Given the description of an element on the screen output the (x, y) to click on. 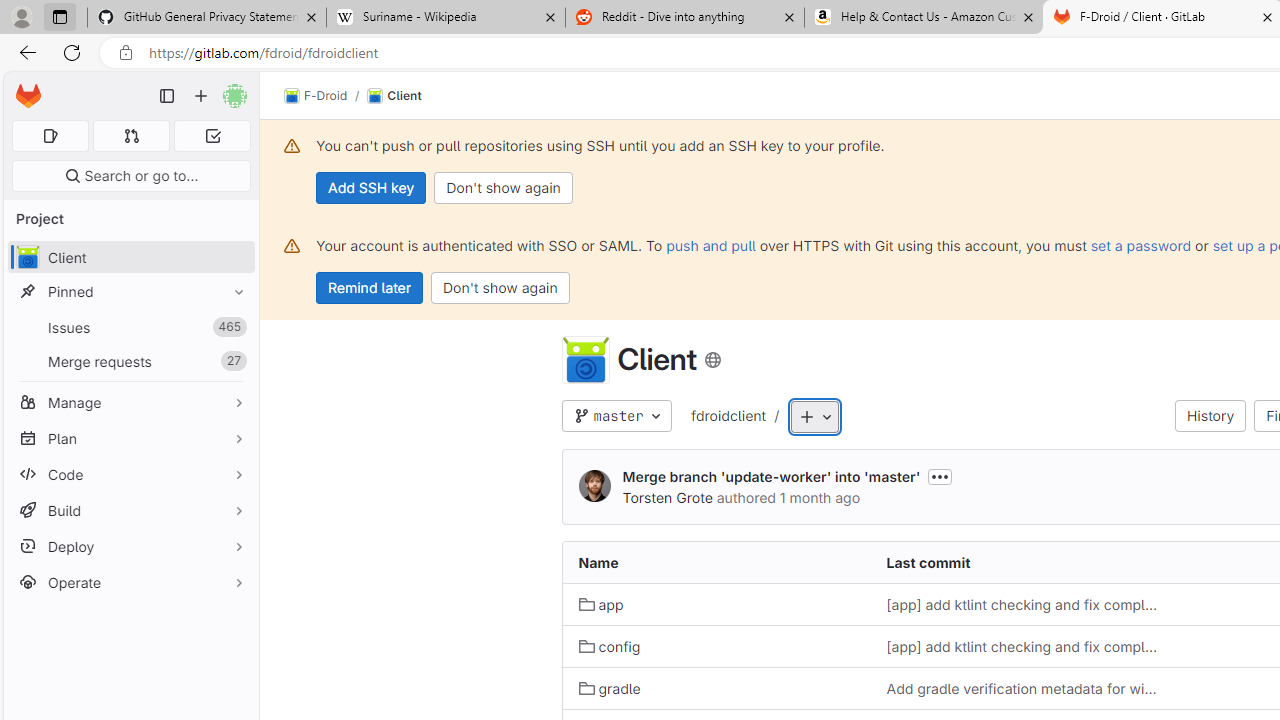
push and pull (710, 245)
config (609, 646)
Client (394, 96)
Deploy (130, 546)
Plan (130, 438)
Merge requests 0 (131, 136)
Torsten Grote (667, 497)
Pinned (130, 291)
Class: s16 icon (712, 359)
Don't show again (500, 287)
Deploy (130, 546)
